Given the description of an element on the screen output the (x, y) to click on. 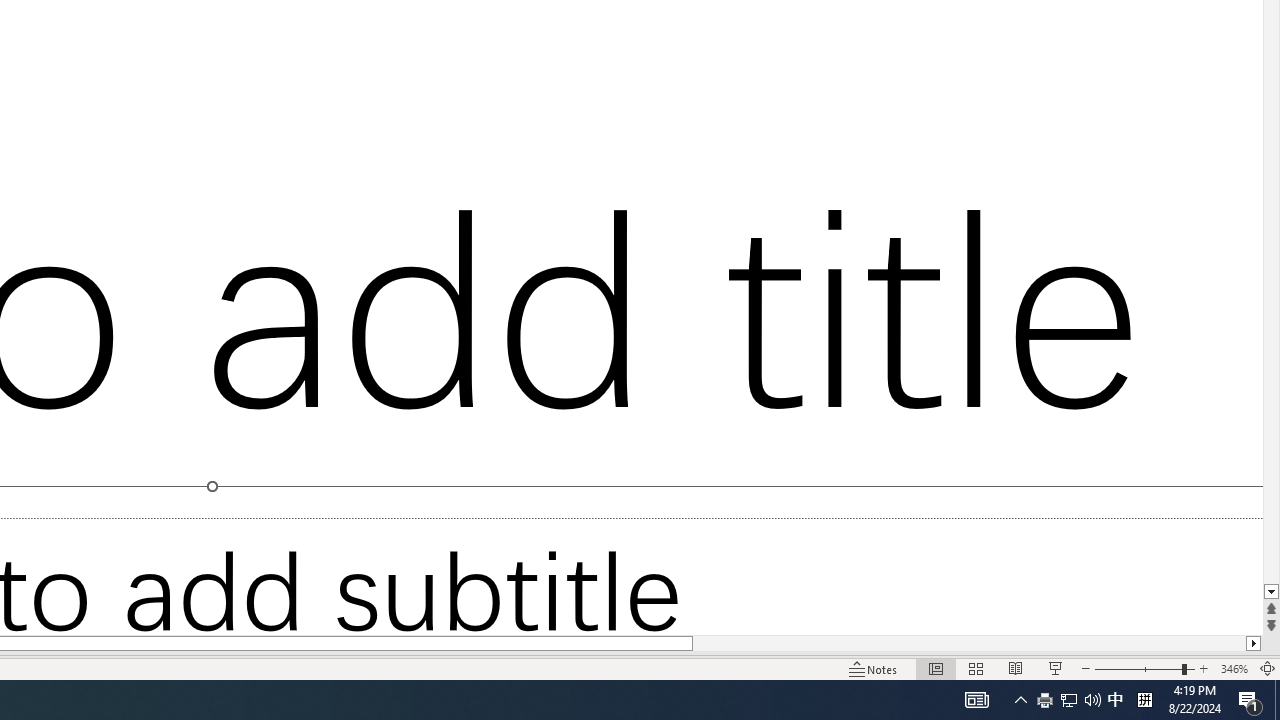
Zoom 346% (1234, 668)
